Given the description of an element on the screen output the (x, y) to click on. 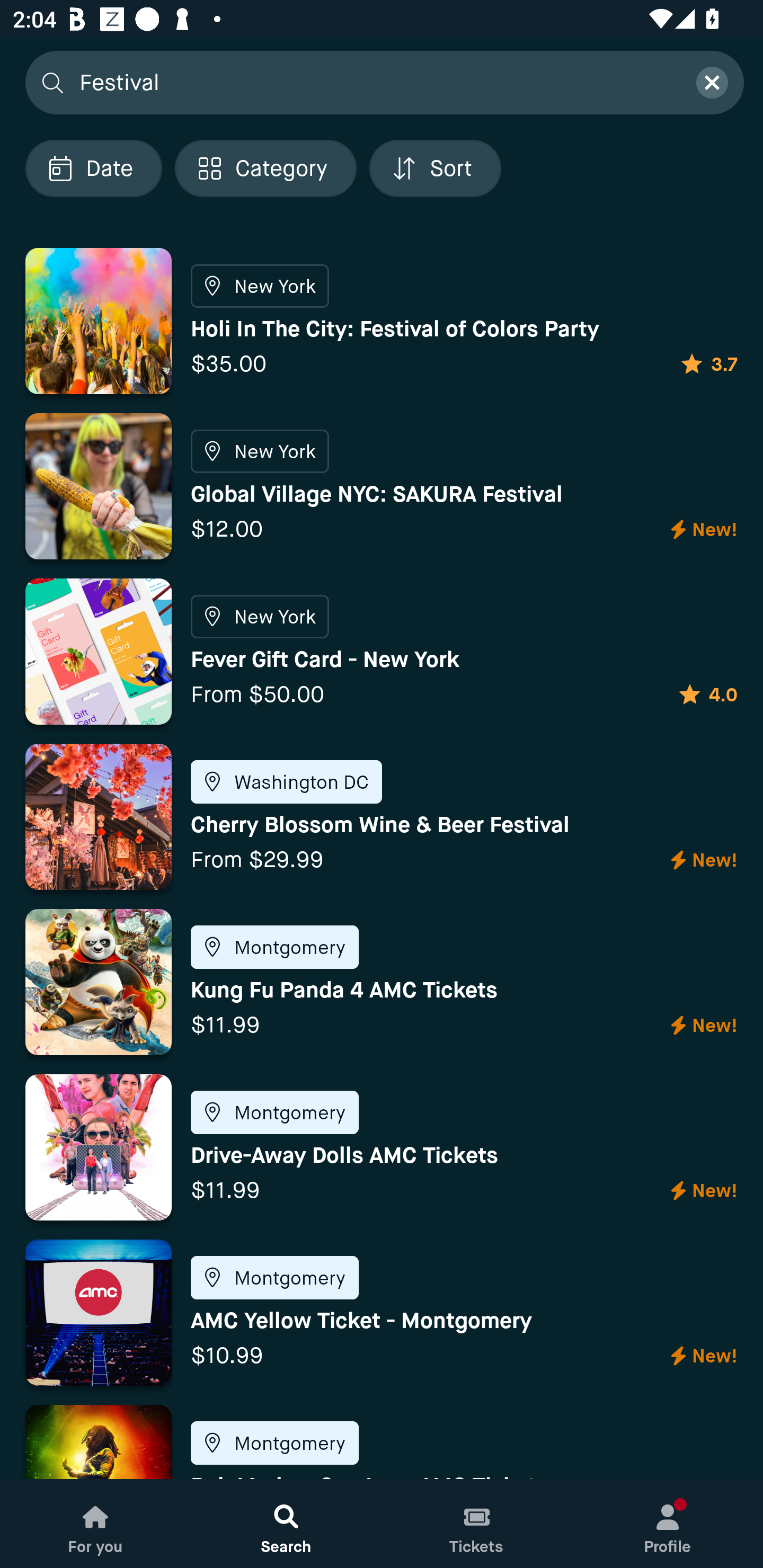
Festival (376, 81)
Localized description Date (93, 168)
Localized description Category (265, 168)
Localized description Sort (435, 168)
For you (95, 1523)
Tickets (476, 1523)
Profile, New notification Profile (667, 1523)
